Given the description of an element on the screen output the (x, y) to click on. 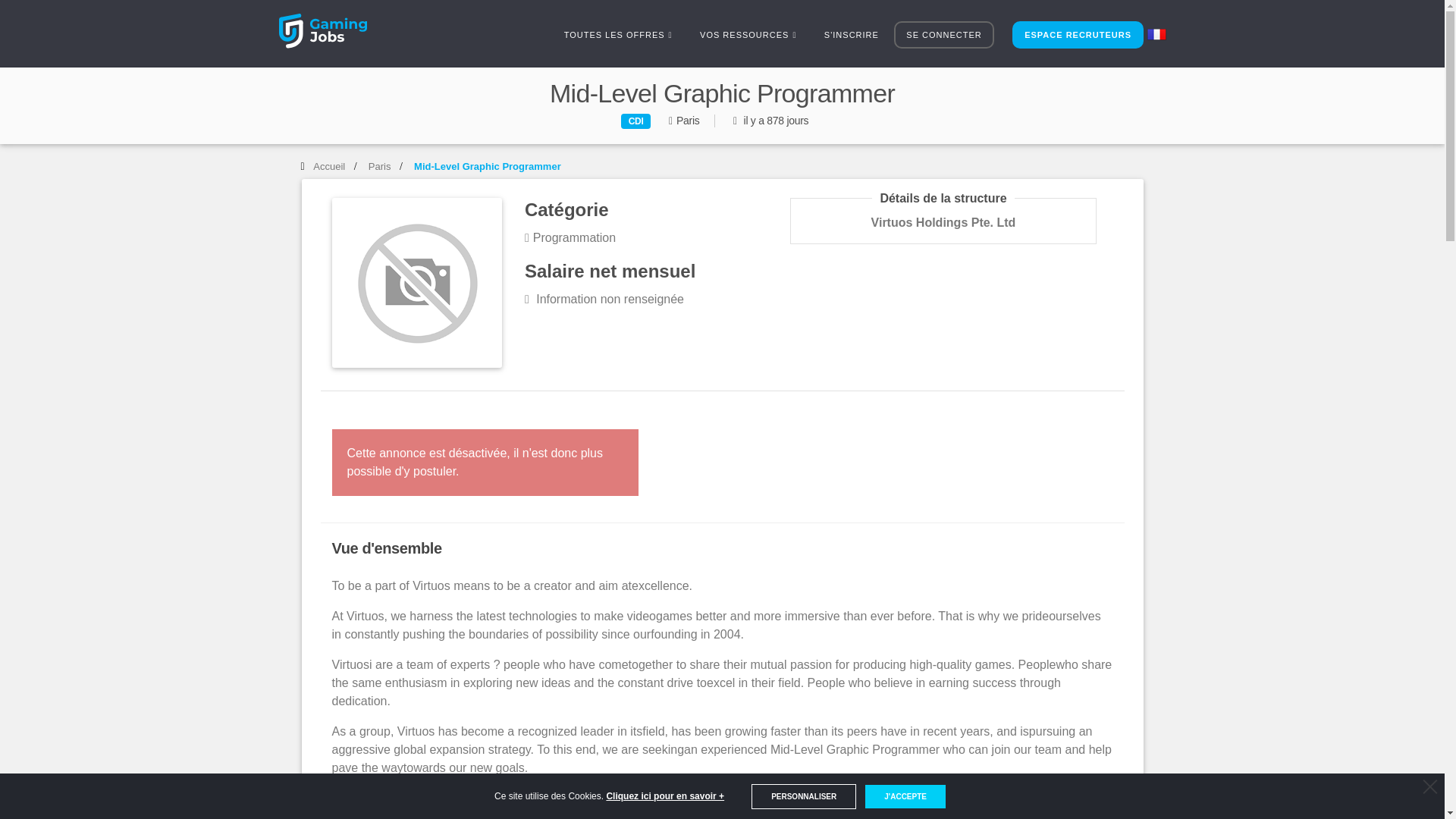
SE CONNECTER (942, 35)
ESPACE RECRUTEURS (1076, 35)
Logo de la structure Virtuos Holdings Pte. Ltd (416, 282)
Paris (379, 165)
Programmation (569, 237)
TOUTES LES OFFRES (617, 35)
VOS RESSOURCES (747, 35)
Accueil (329, 165)
S'INSCRIRE (851, 35)
Gaming jobs (336, 34)
